Given the description of an element on the screen output the (x, y) to click on. 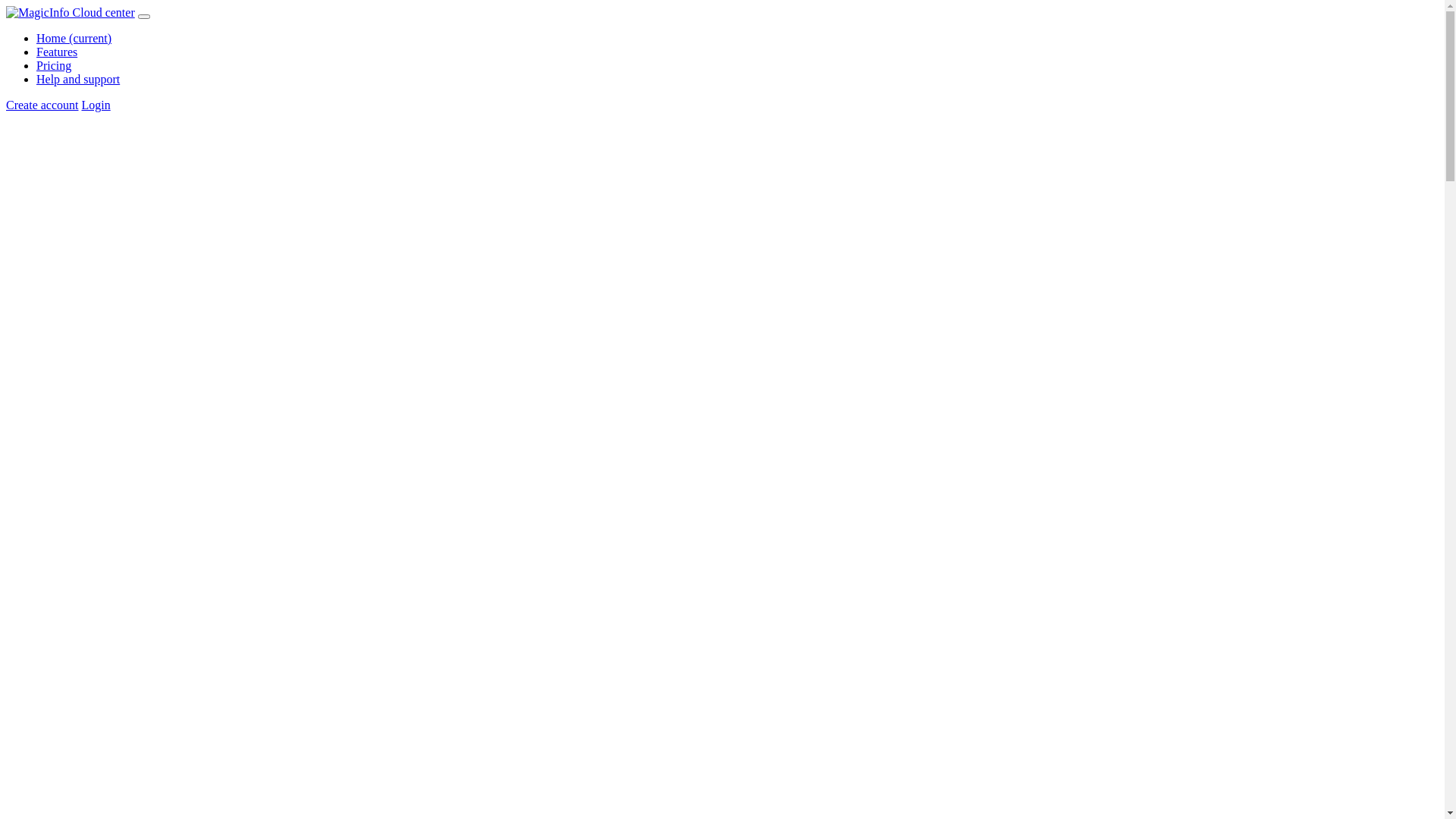
Home (current) Element type: text (73, 37)
Pricing Element type: text (53, 65)
Login Element type: text (95, 104)
Help and support Element type: text (77, 78)
Features Element type: text (56, 51)
Create account Element type: text (42, 104)
